Given the description of an element on the screen output the (x, y) to click on. 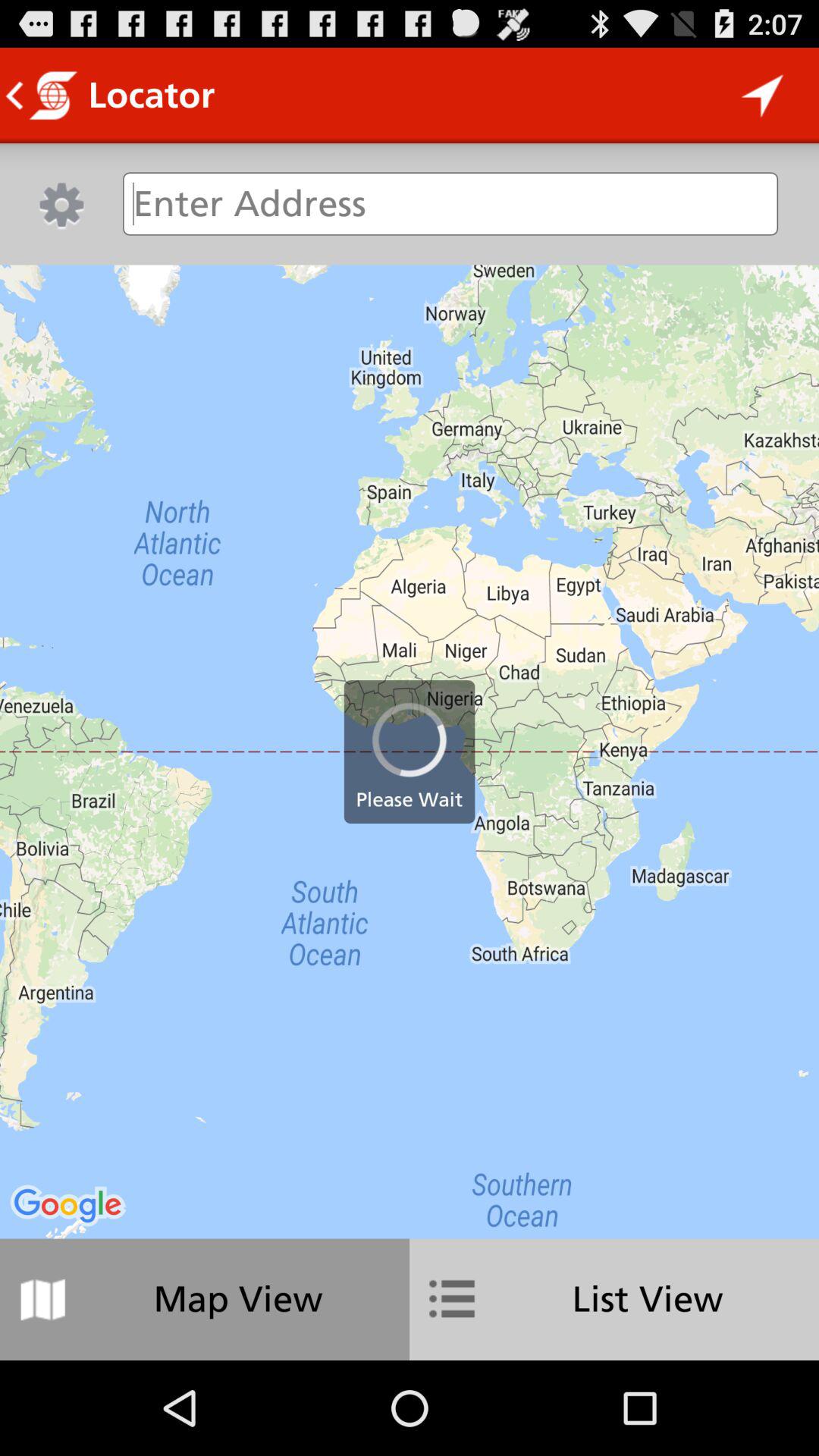
jump to map view icon (204, 1299)
